Given the description of an element on the screen output the (x, y) to click on. 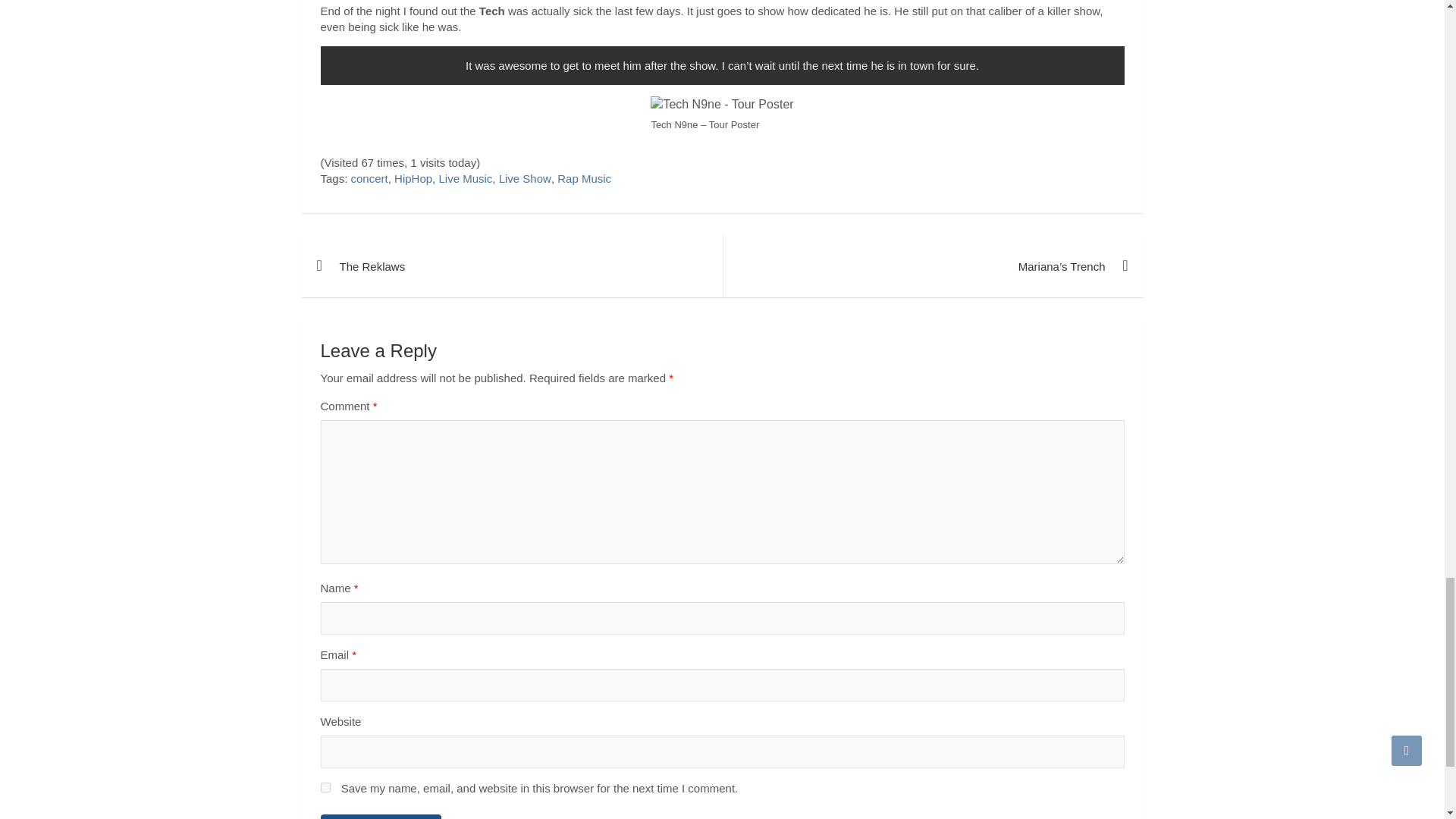
Live Music (465, 178)
HipHop (413, 178)
Post Comment (380, 816)
concert (369, 178)
The Reklaws (511, 266)
Post Comment (380, 816)
Live Show (525, 178)
yes (325, 787)
Rap Music (584, 178)
